Given the description of an element on the screen output the (x, y) to click on. 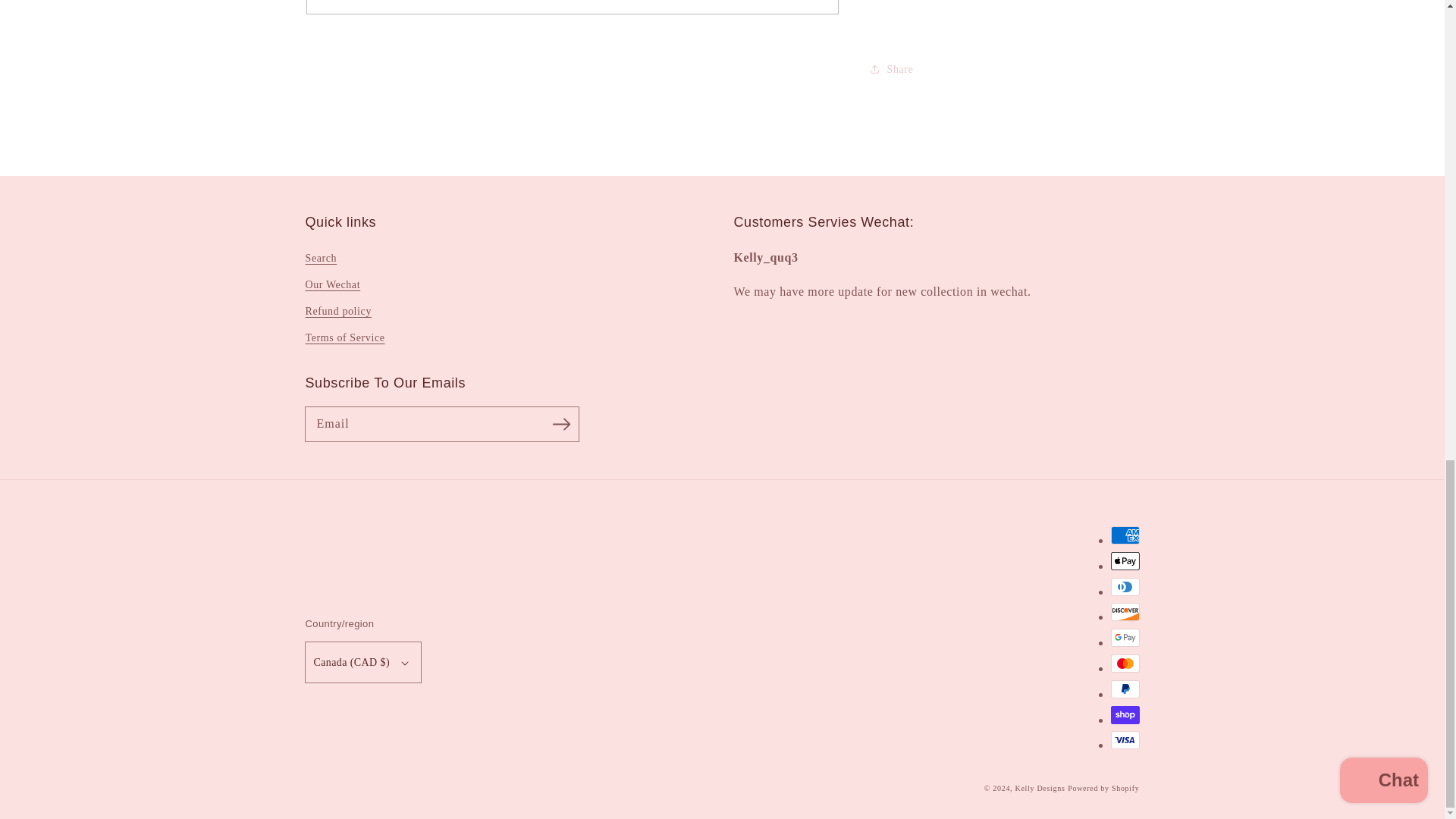
American Express (1123, 535)
Diners Club (1123, 587)
Apple Pay (1123, 561)
Discover (1123, 611)
Google Pay (1123, 637)
